Given the description of an element on the screen output the (x, y) to click on. 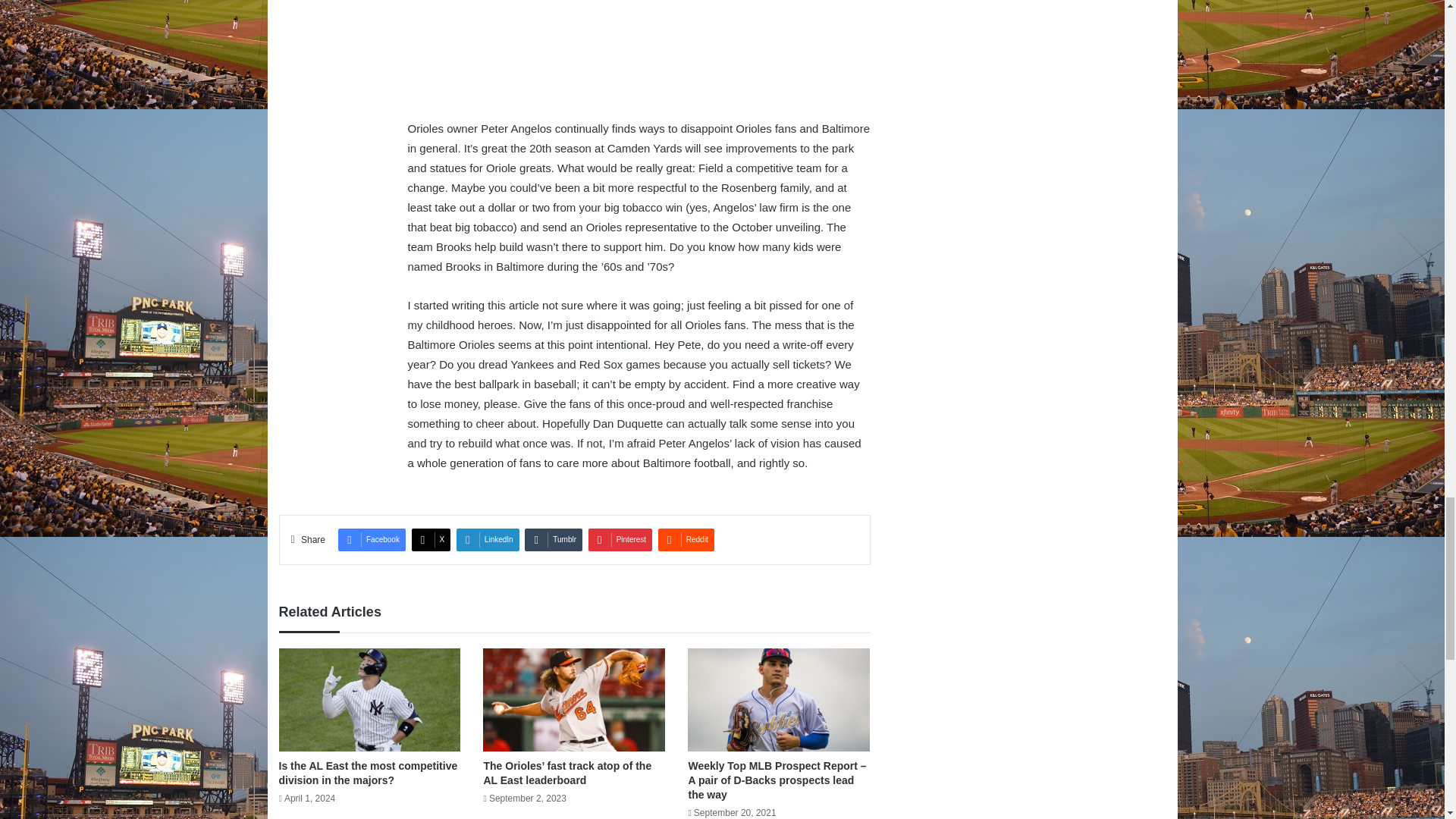
Facebook (371, 539)
Advertisement (638, 59)
X (431, 539)
